Given the description of an element on the screen output the (x, y) to click on. 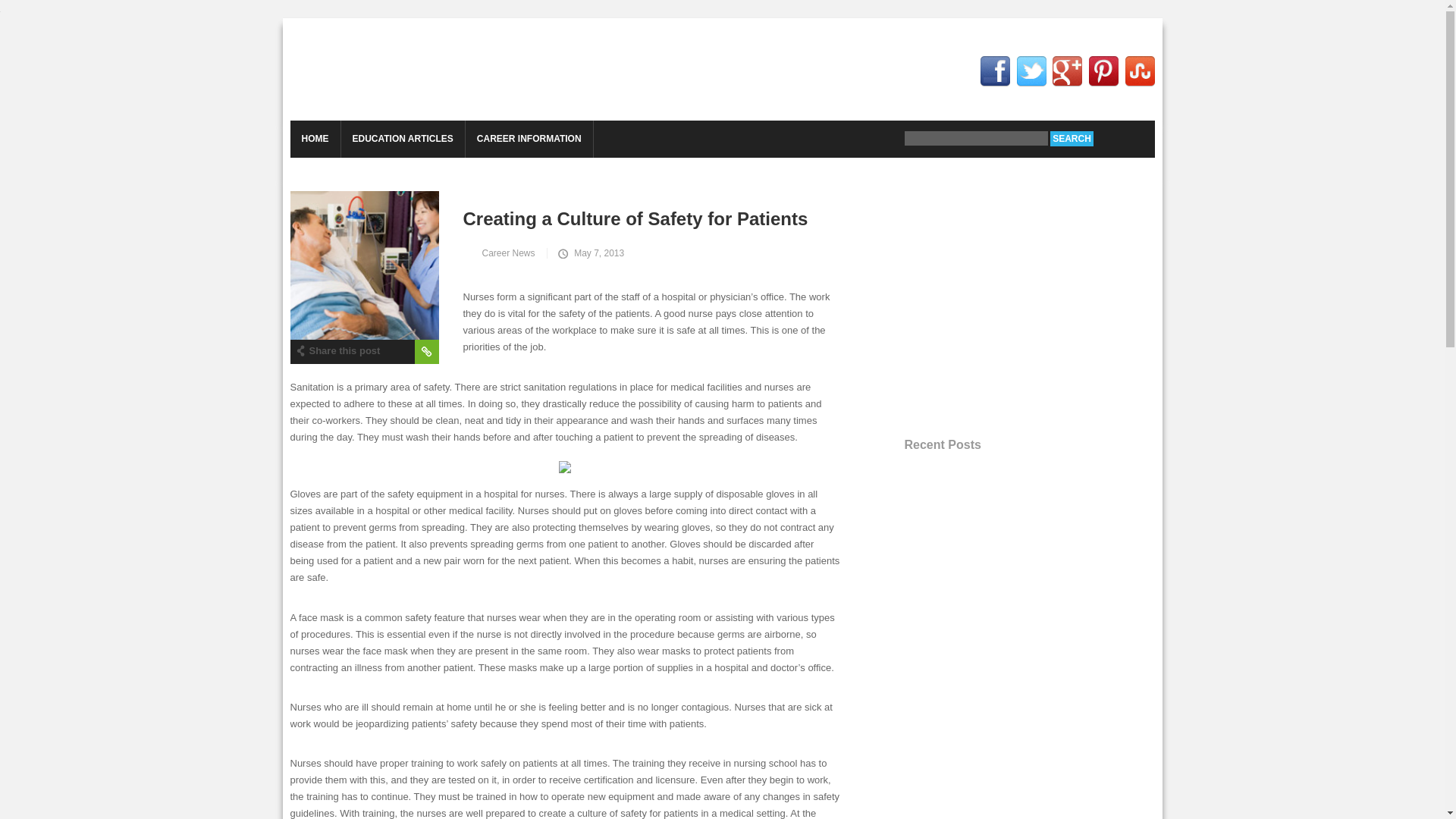
EDUCATION ARTICLES (402, 139)
Permalink to Creating a Culture of Safety for Patients (572, 217)
Permalink to Creating a Culture of Safety for Patients (363, 264)
Career News (505, 253)
May 7, 2013 (589, 253)
CAREER INFORMATION (528, 139)
9:00 AM (589, 253)
Education Career Articles (406, 69)
Search (1071, 138)
Creating a Culture of Safety for Patients (572, 217)
